Given the description of an element on the screen output the (x, y) to click on. 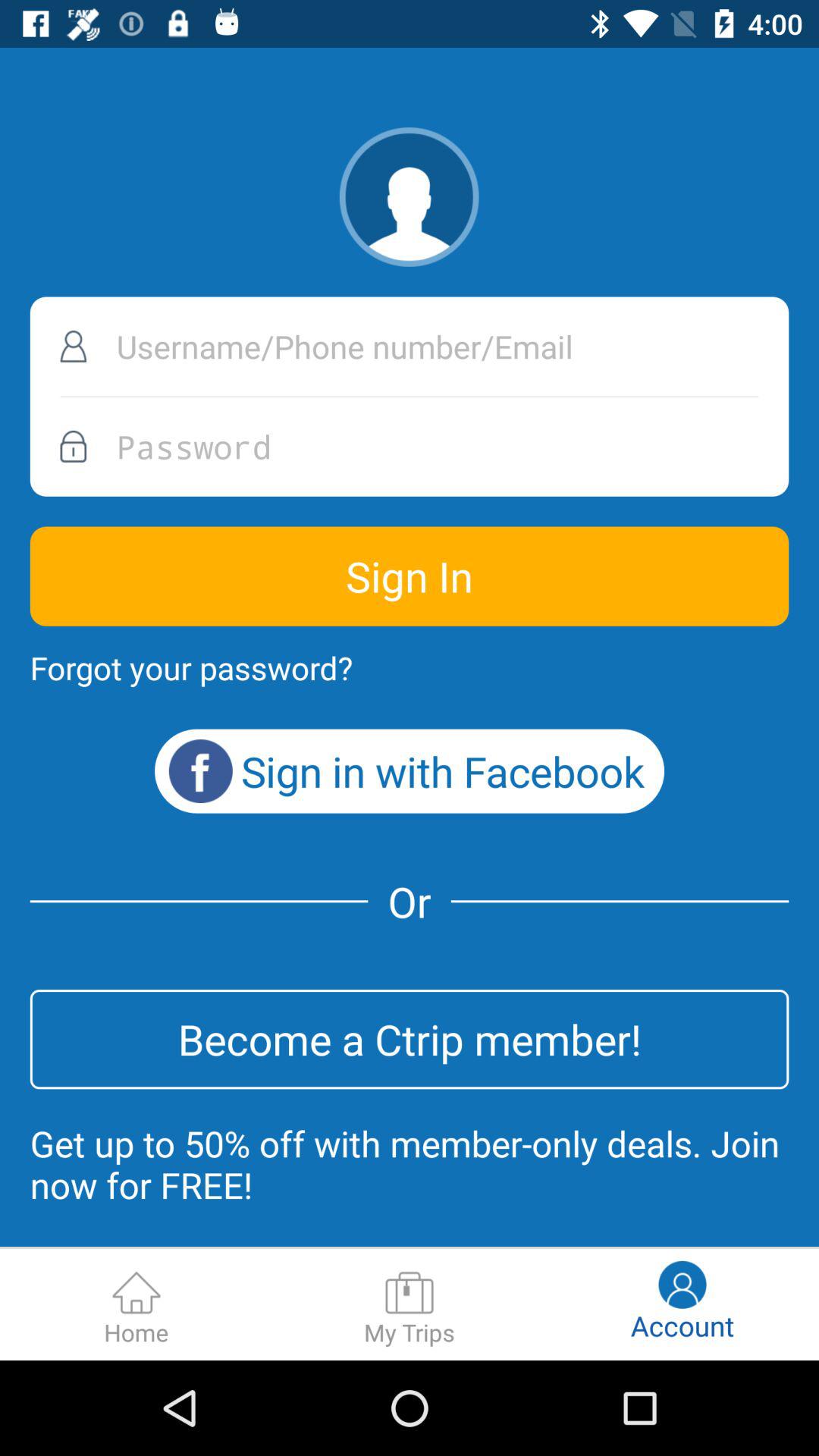
enter username (409, 346)
